Given the description of an element on the screen output the (x, y) to click on. 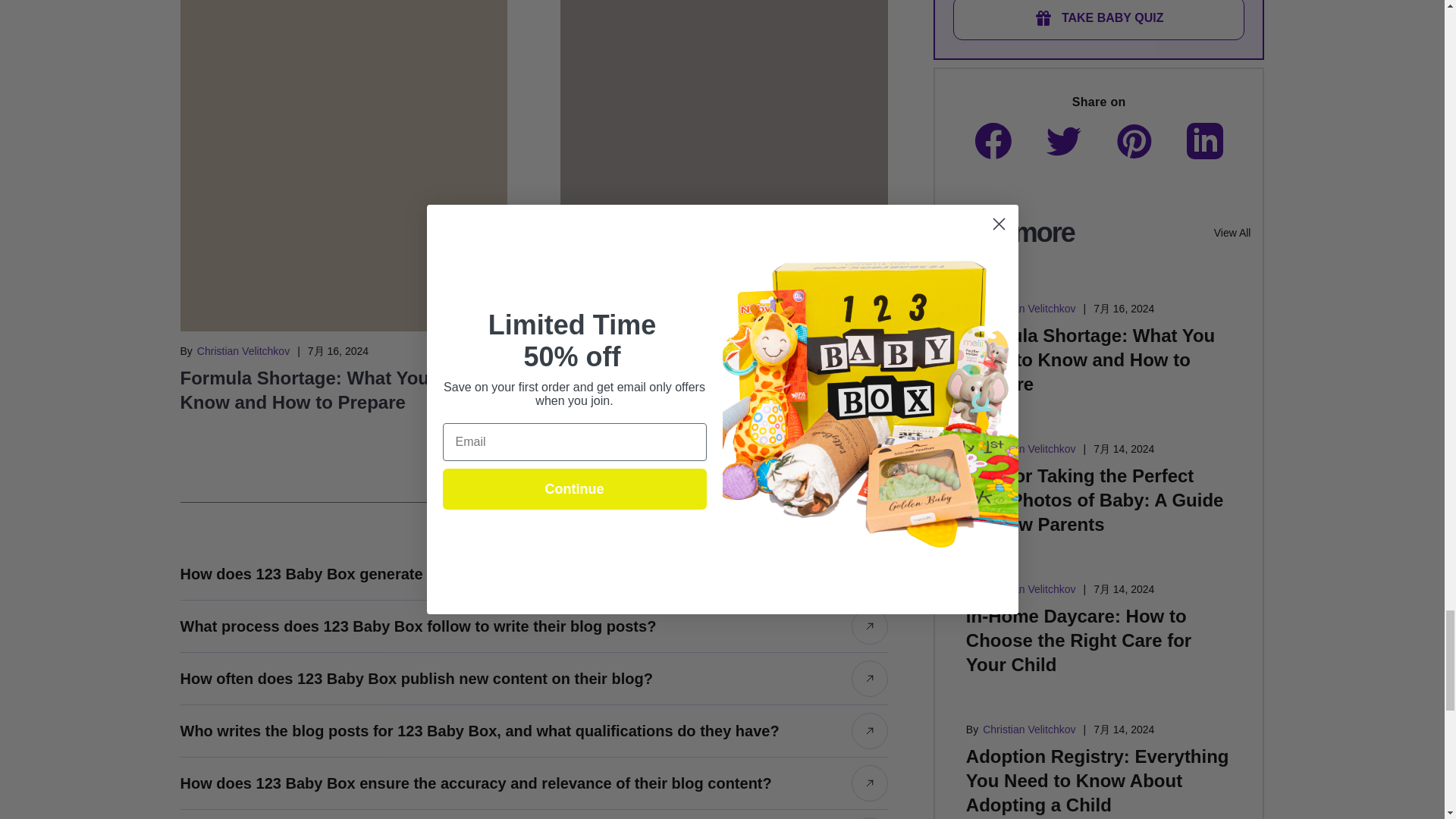
Formula Shortage: What You Need to Know and How to Prepare (340, 389)
